Given the description of an element on the screen output the (x, y) to click on. 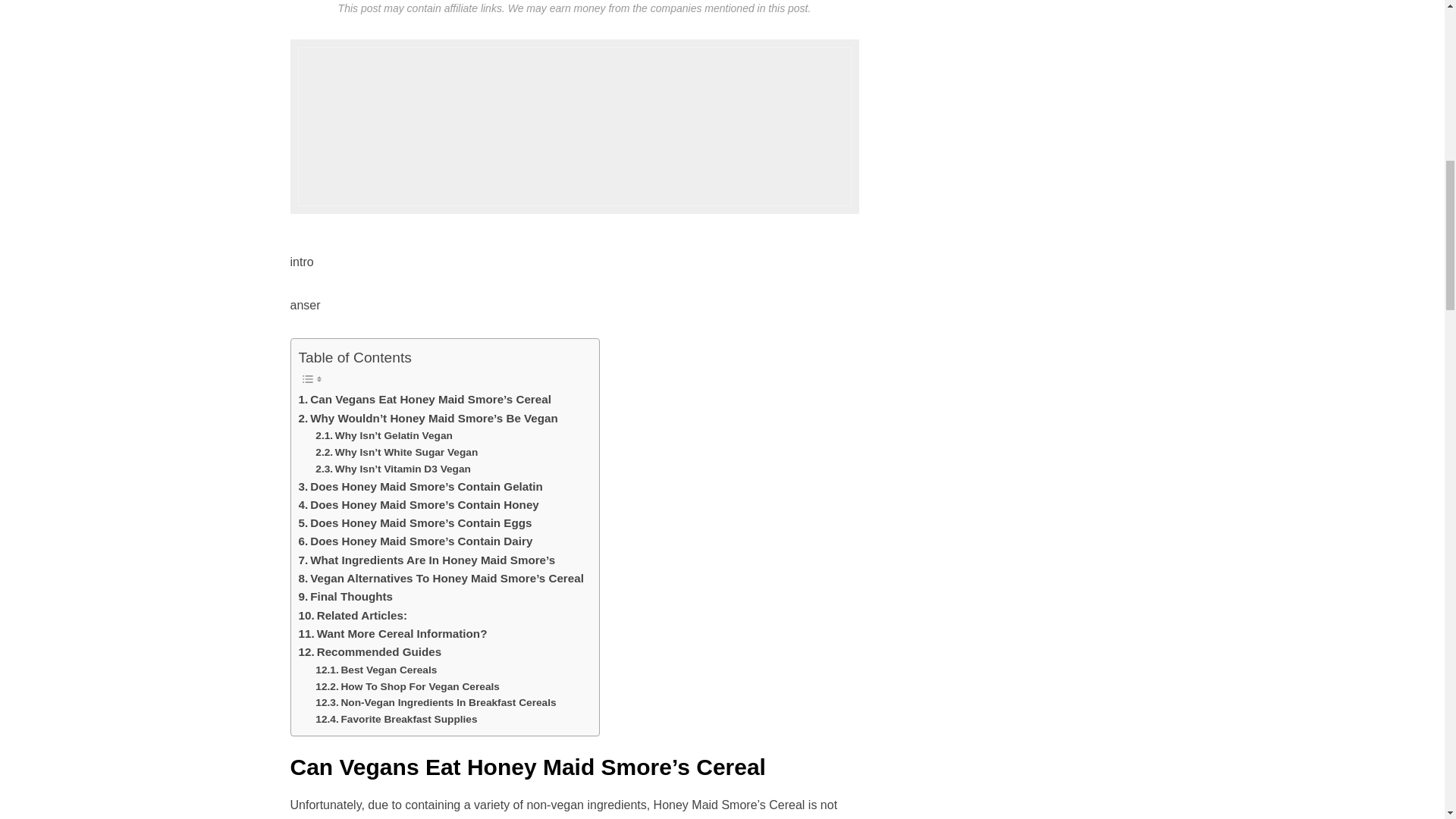
Final Thoughts (345, 597)
Want More Cereal Information? (392, 633)
Related Articles: (352, 615)
